Given the description of an element on the screen output the (x, y) to click on. 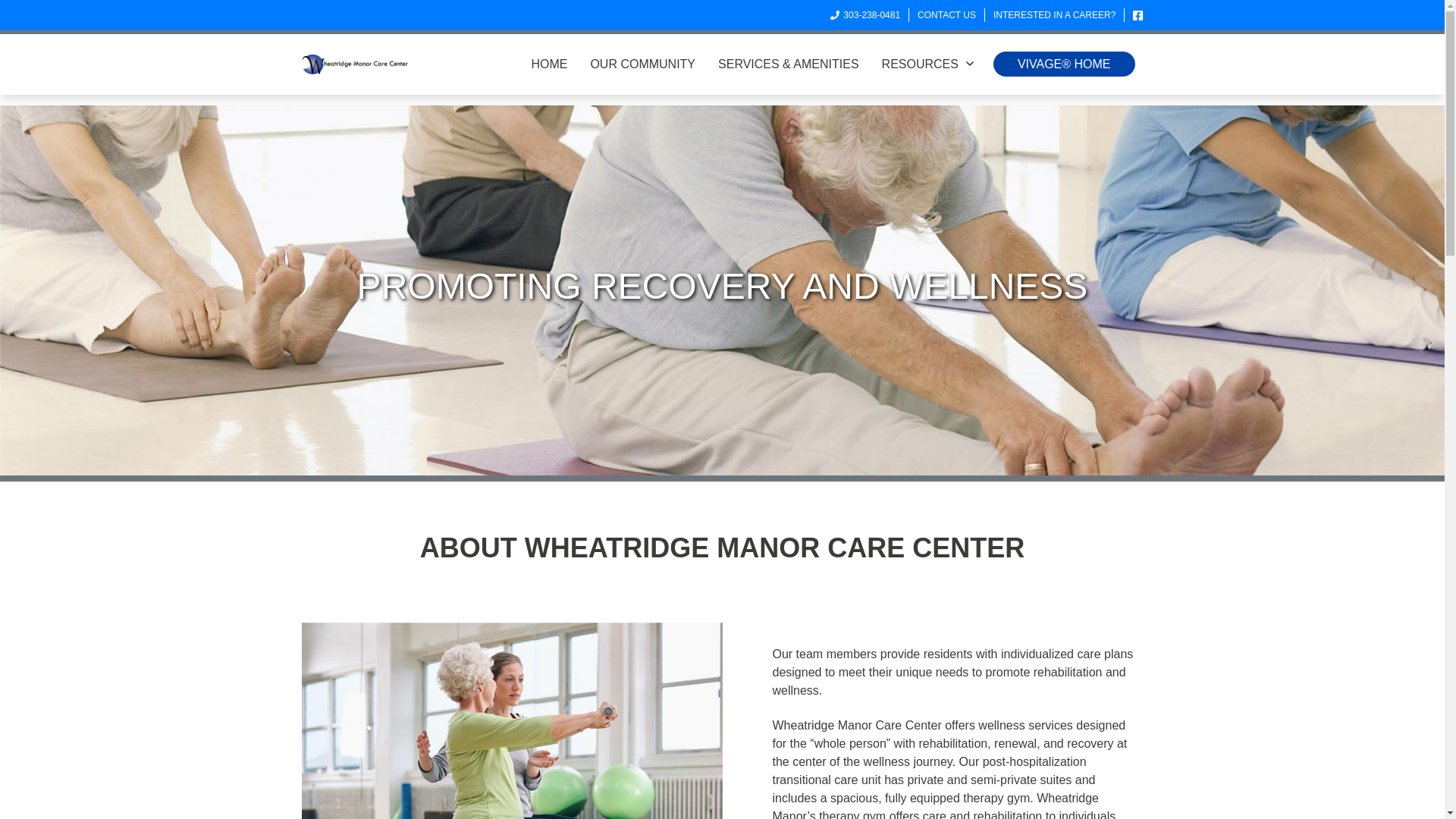
HOME (554, 63)
OUR COMMUNITY (642, 63)
INTERESTED IN A CAREER? (1053, 15)
303-238-0481 (864, 15)
CONTACT US (946, 15)
